Given the description of an element on the screen output the (x, y) to click on. 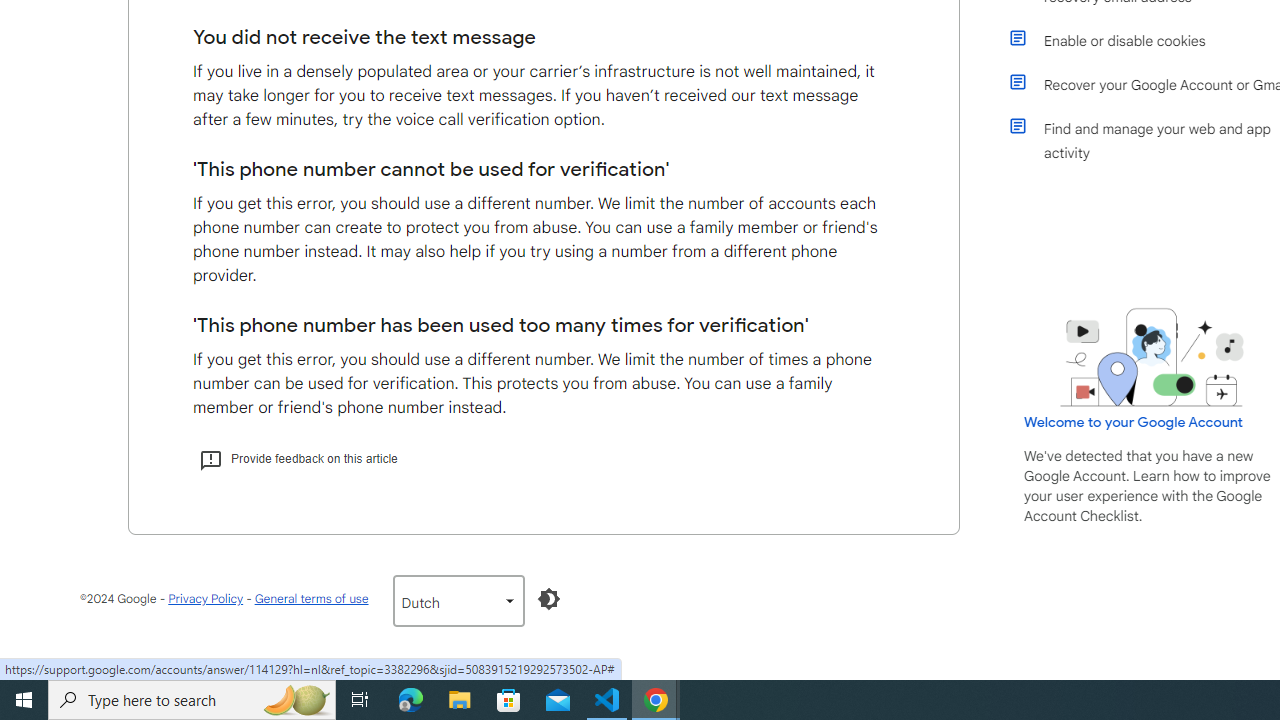
Learning Center home page image (1152, 357)
Provide feedback on this article (298, 458)
General terms of use (310, 598)
Welcome to your Google Account (1134, 422)
Enable dark mode (548, 598)
